Given the description of an element on the screen output the (x, y) to click on. 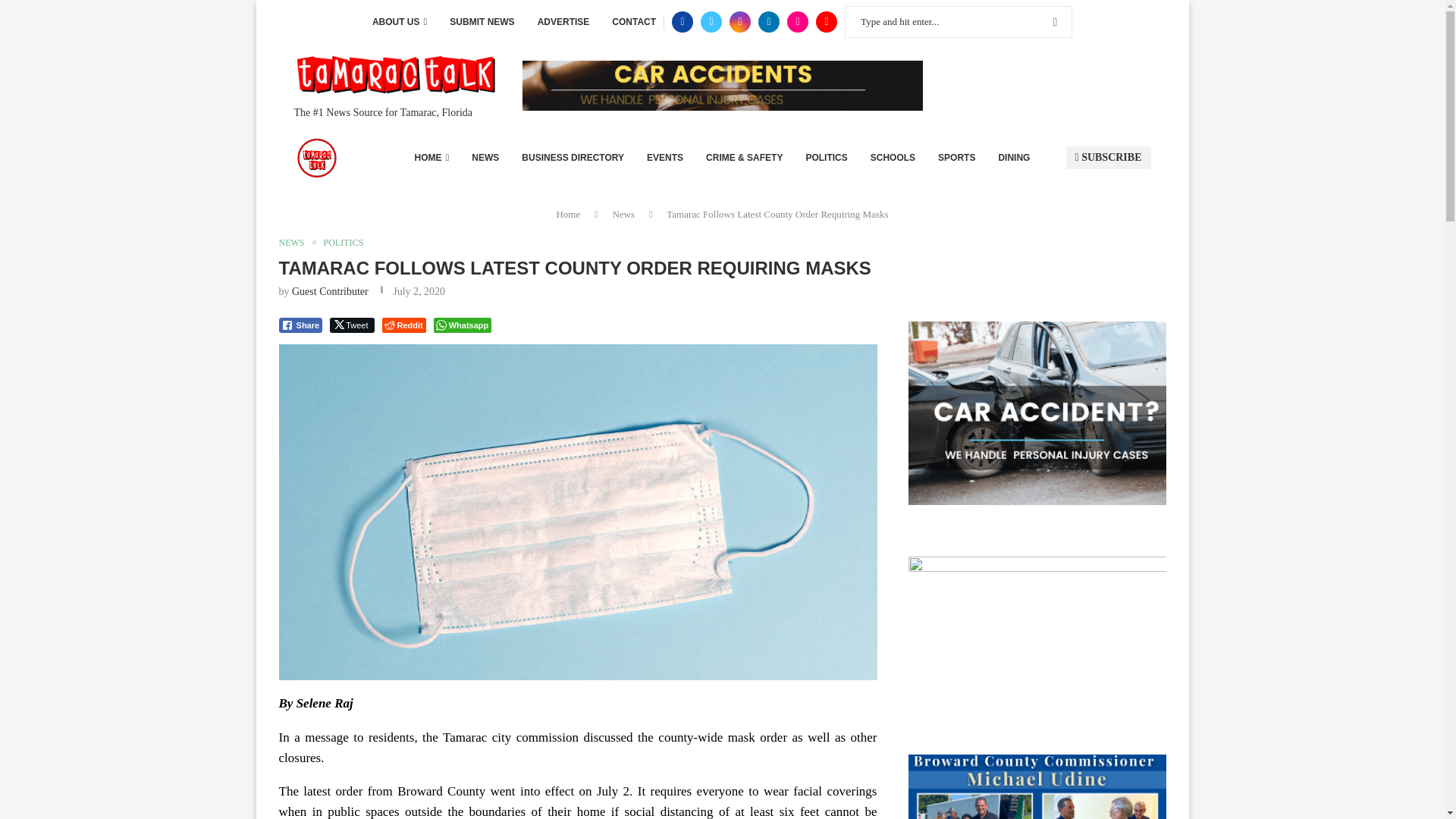
SUBSCRIBE (1108, 157)
SCHOOLS (892, 157)
BUSINESS DIRECTORY (572, 157)
CONTACT (633, 22)
ABOUT US (399, 22)
POLITICS (826, 157)
ADVERTISE (563, 22)
SUBMIT NEWS (481, 22)
